Given the description of an element on the screen output the (x, y) to click on. 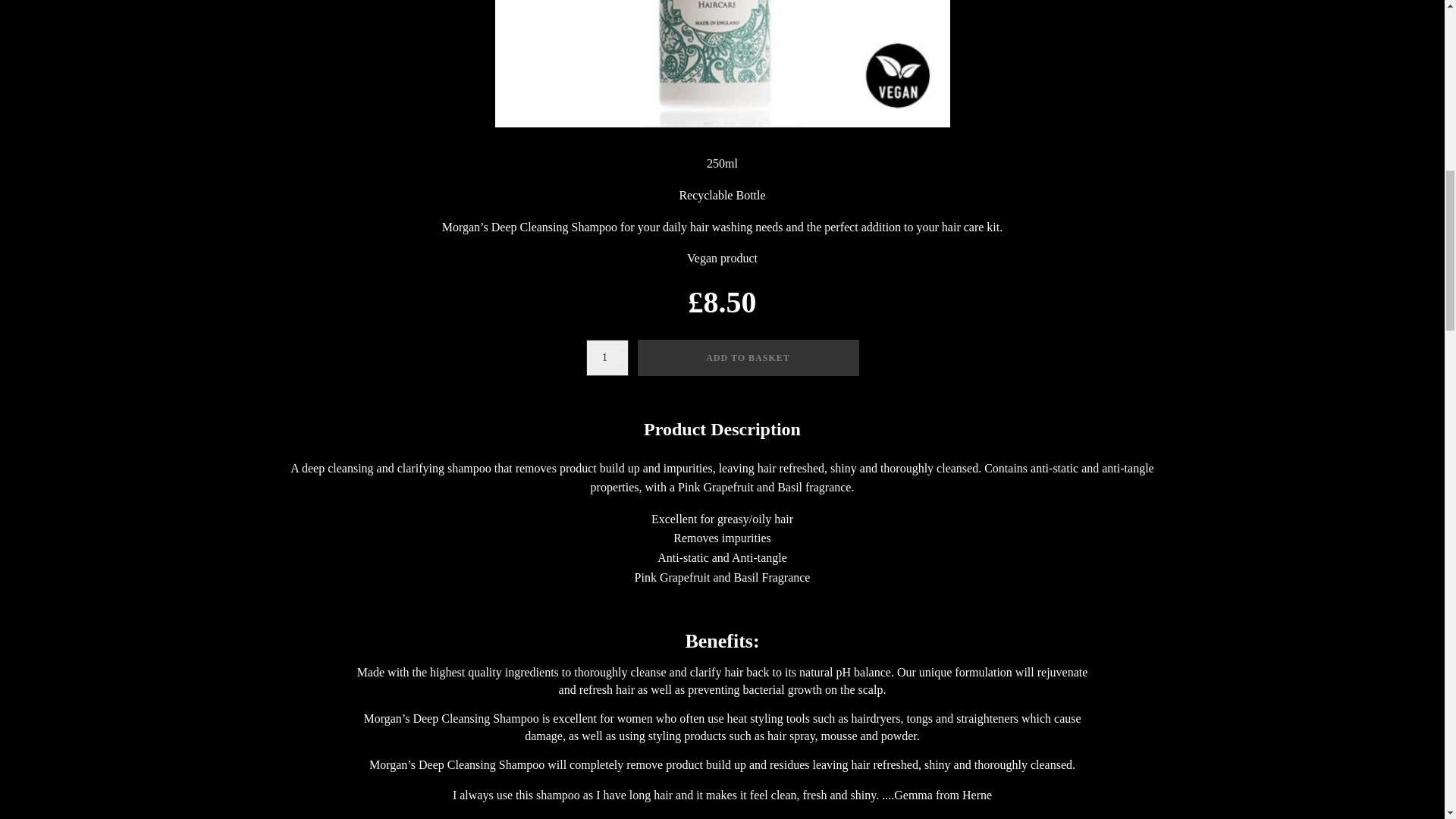
1 (606, 357)
womens-deep-cleansing-shampoo-250ml-vg (722, 63)
